Given the description of an element on the screen output the (x, y) to click on. 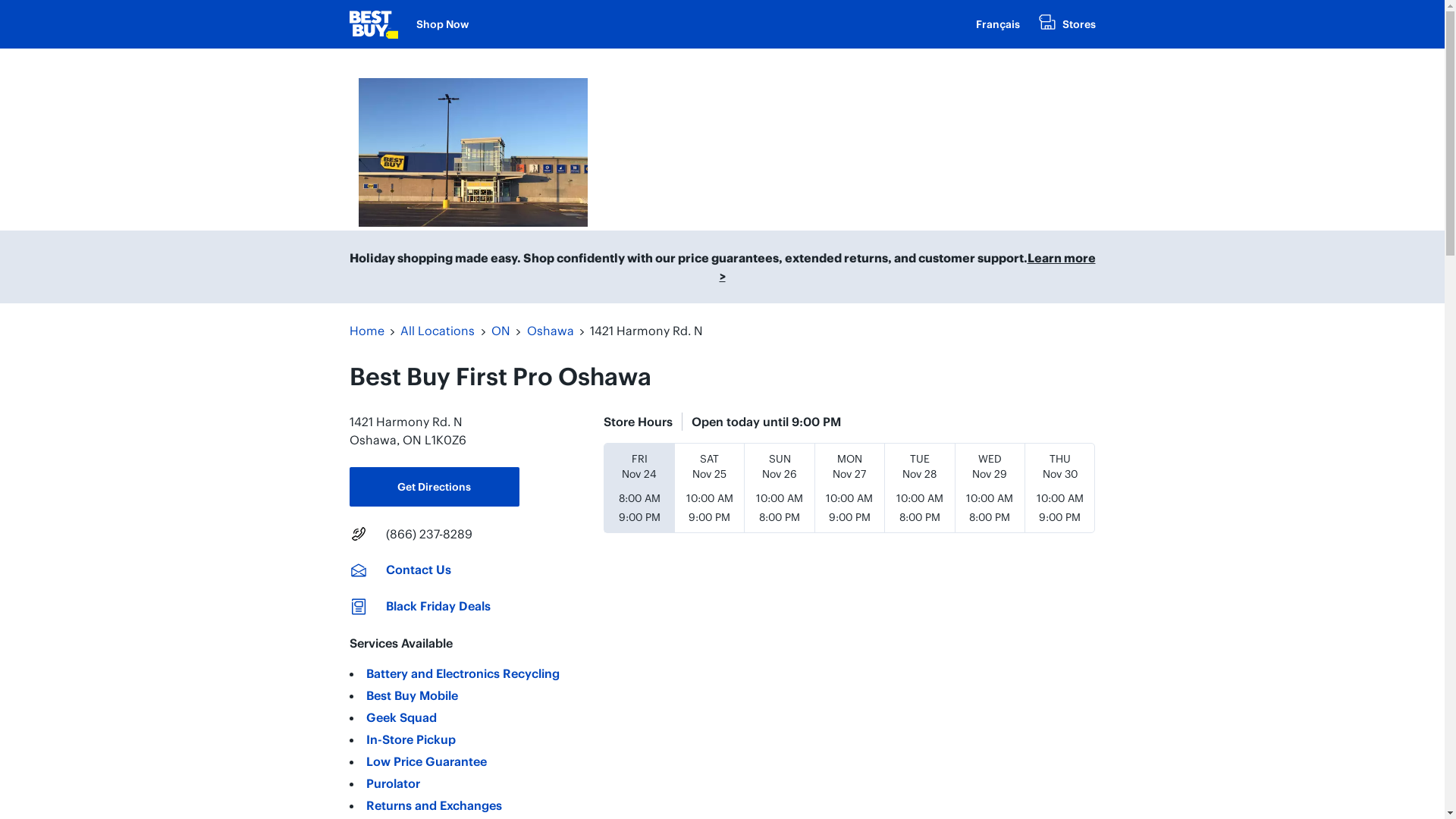
In-Store Pickup Element type: text (410, 738)
Low Price Guarantee Element type: text (425, 760)
Stores Element type: text (1066, 23)
Black Friday Deals Element type: text (437, 606)
Purolator Element type: text (392, 782)
Shop Now Element type: text (441, 23)
Get Directions Element type: text (433, 486)
All Locations Element type: text (437, 330)
Returns and Exchanges Element type: text (433, 804)
Home Element type: text (365, 330)
Contact Us Element type: text (417, 570)
Best Buy Mobile Element type: text (411, 694)
ON Element type: text (500, 330)
Learn more > Element type: text (906, 266)
Geek Squad Element type: text (400, 716)
Battery and Electronics Recycling Element type: text (461, 672)
Oshawa Element type: text (550, 330)
www.bestbuy.ca Element type: text (372, 24)
